Given the description of an element on the screen output the (x, y) to click on. 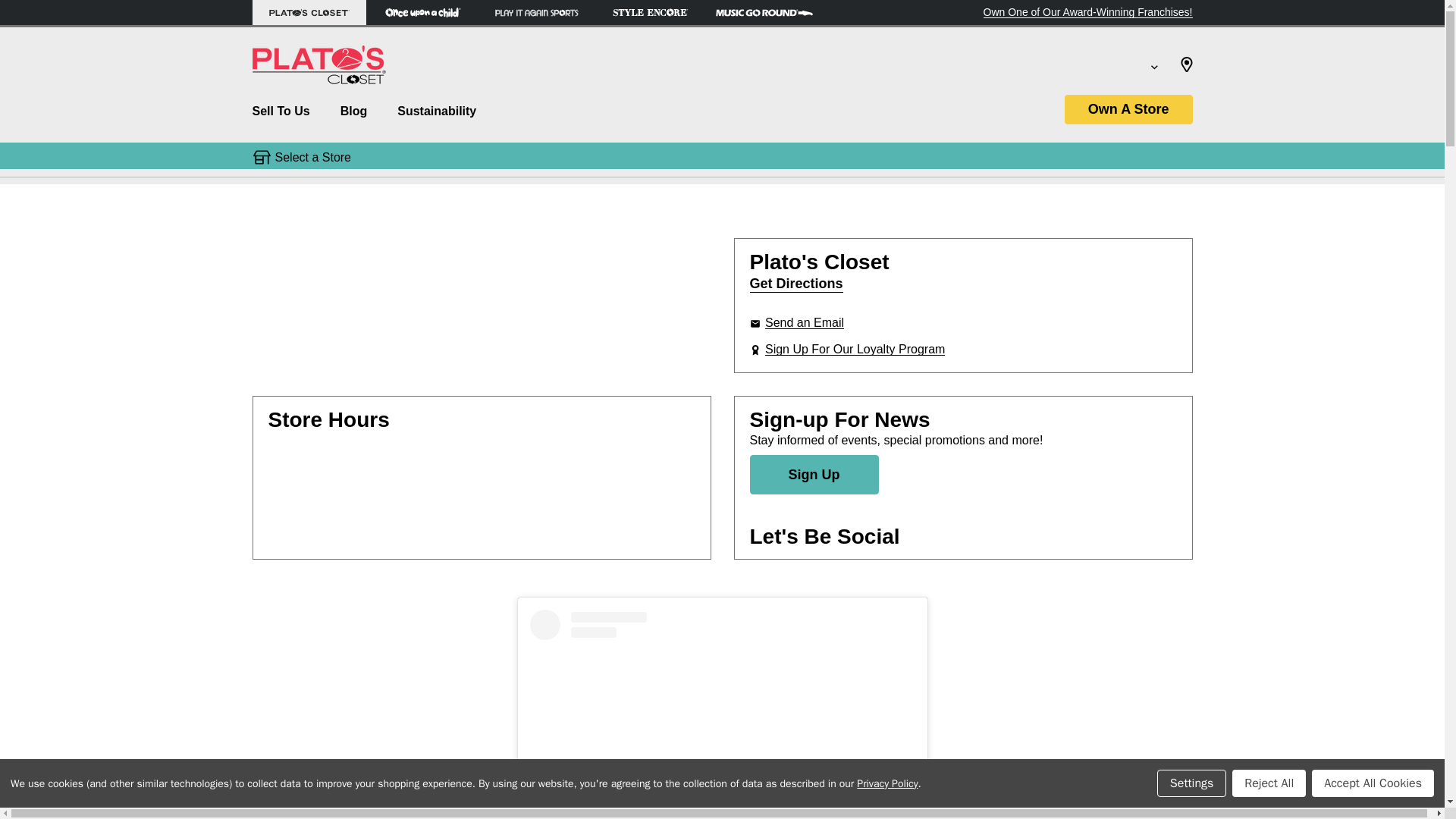
Sign Up For Our Loyalty Program (854, 349)
Send an Email (804, 322)
Play It Again Sports Store (535, 12)
Once Upon a Child Store (422, 12)
Plato's Closet Store (308, 12)
View this profile on Instagram (721, 714)
Get Directions (796, 283)
Store Locator (1185, 68)
Own A Store (1128, 109)
Store Locator (1185, 68)
Sustainability (436, 114)
Style Encore Store (649, 12)
Sign Up (813, 474)
Select a Store (312, 155)
Blog (353, 114)
